Given the description of an element on the screen output the (x, y) to click on. 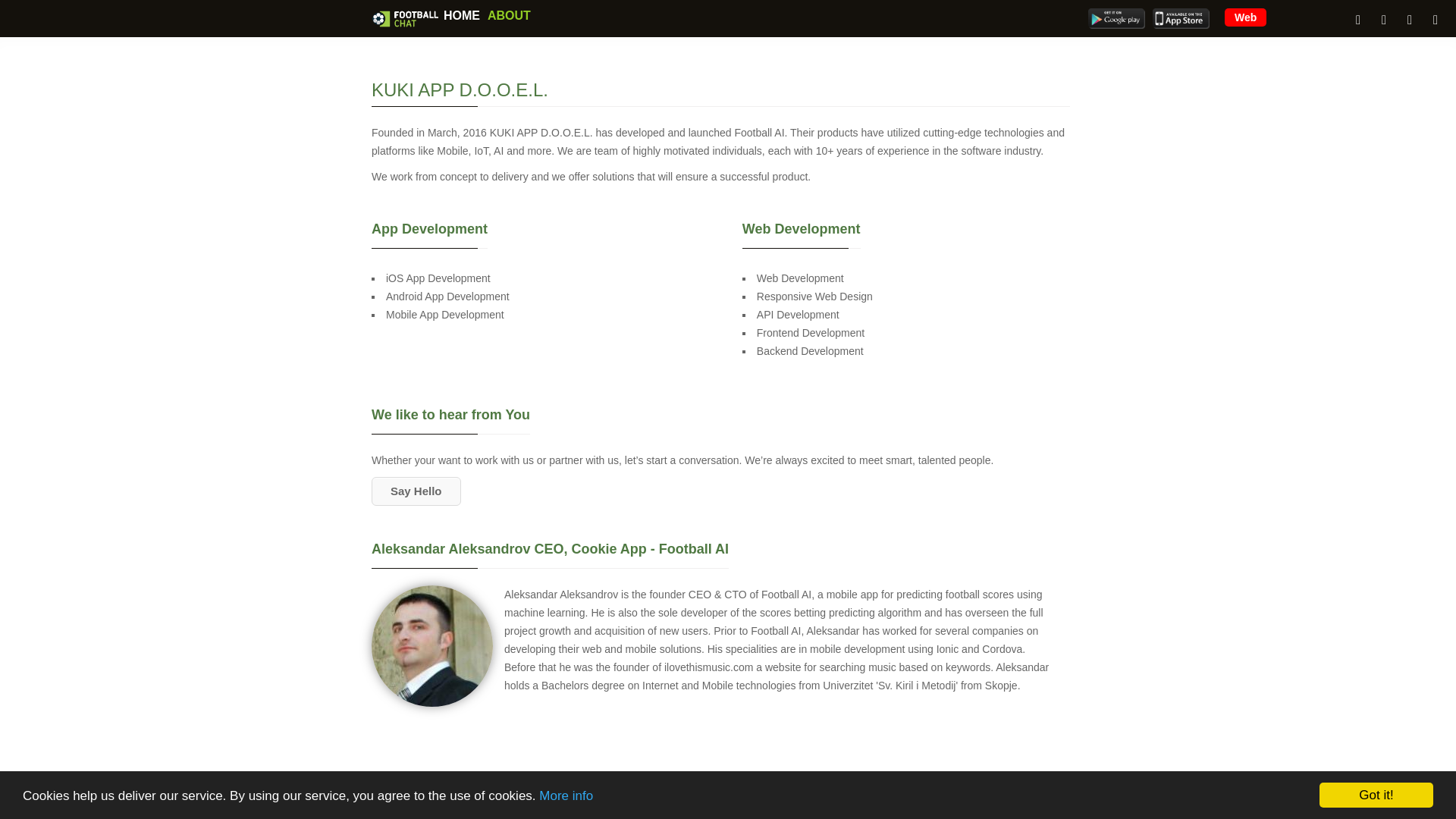
ABOUT (508, 15)
Say Hello (416, 491)
  Web   (1245, 17)
Aleksandar Aleksandrov (432, 645)
HOME (461, 15)
Football AI (1181, 18)
Football AI (1115, 18)
Football AI News (405, 18)
